Given the description of an element on the screen output the (x, y) to click on. 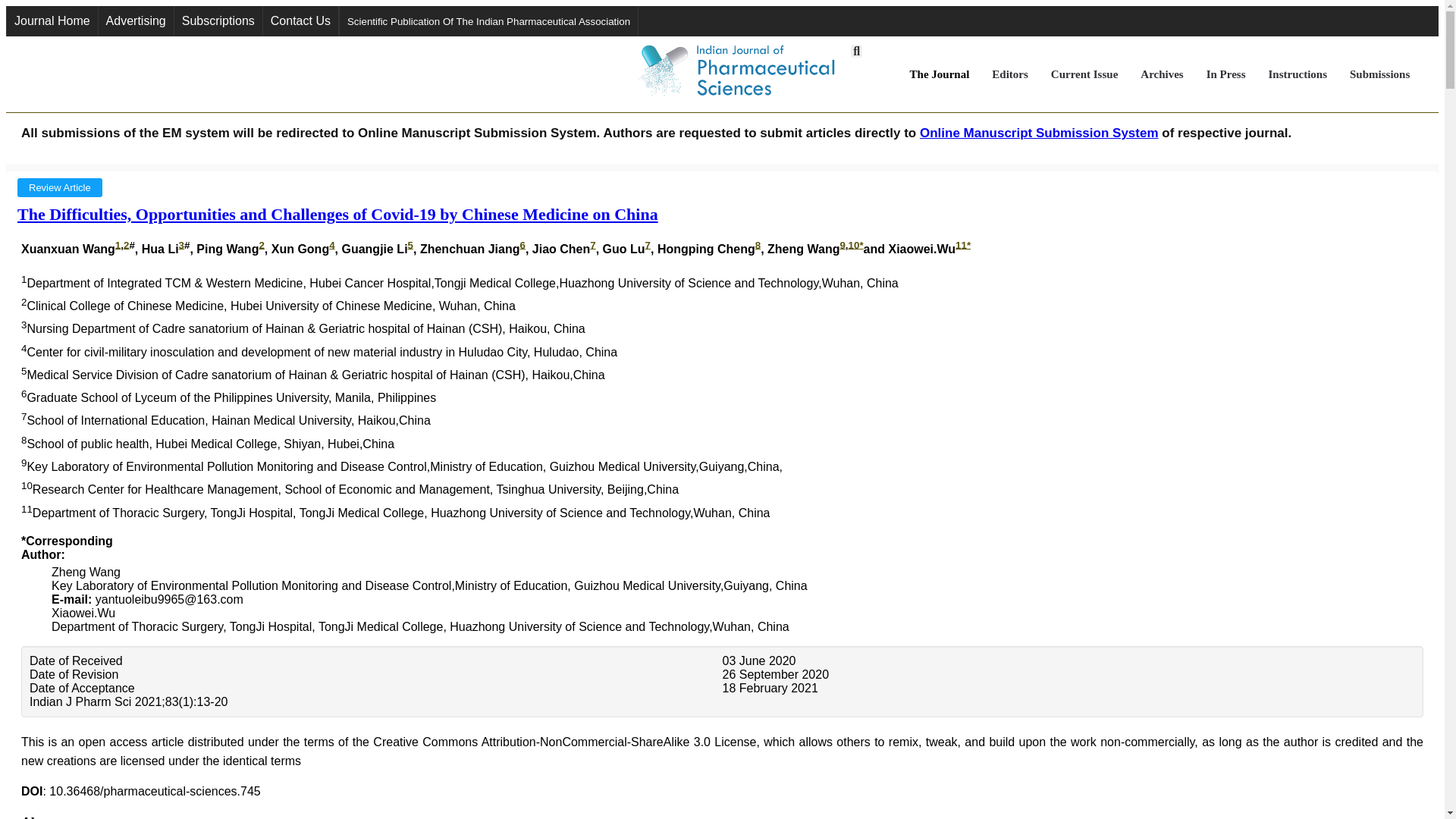
Advertising (136, 20)
Indian Journal of Pharmaceutical Sciences (737, 73)
Journal Home (52, 20)
Advertising (136, 20)
11 (960, 244)
Subscriptions (218, 20)
Online Manuscript Submission System (1039, 133)
10 (854, 244)
Contact Us (300, 20)
